Given the description of an element on the screen output the (x, y) to click on. 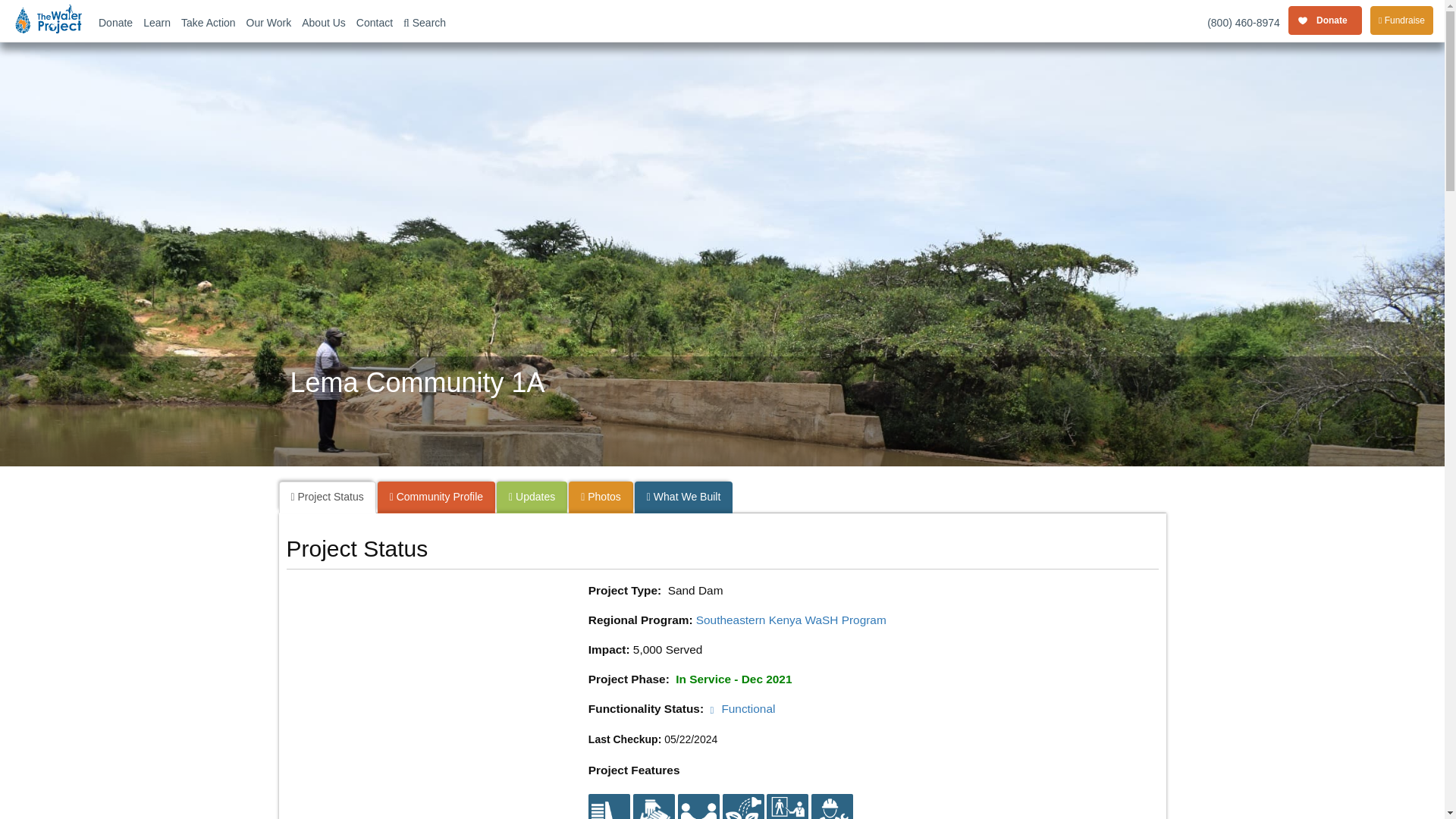
Donate (115, 20)
Learn (157, 20)
Our Work (269, 20)
Local Leadership (654, 814)
Take Action (208, 20)
Sand Dam (609, 806)
Monitoring and Resolution (831, 814)
Donate Button (1325, 21)
Southeastern Kenya WaSH Program (790, 619)
Sand Dam (609, 814)
See Functionality Data (743, 707)
Agricultural Assistance (742, 814)
Hygiene and Sanitation Training (787, 814)
Community Engagement (698, 814)
